Given the description of an element on the screen output the (x, y) to click on. 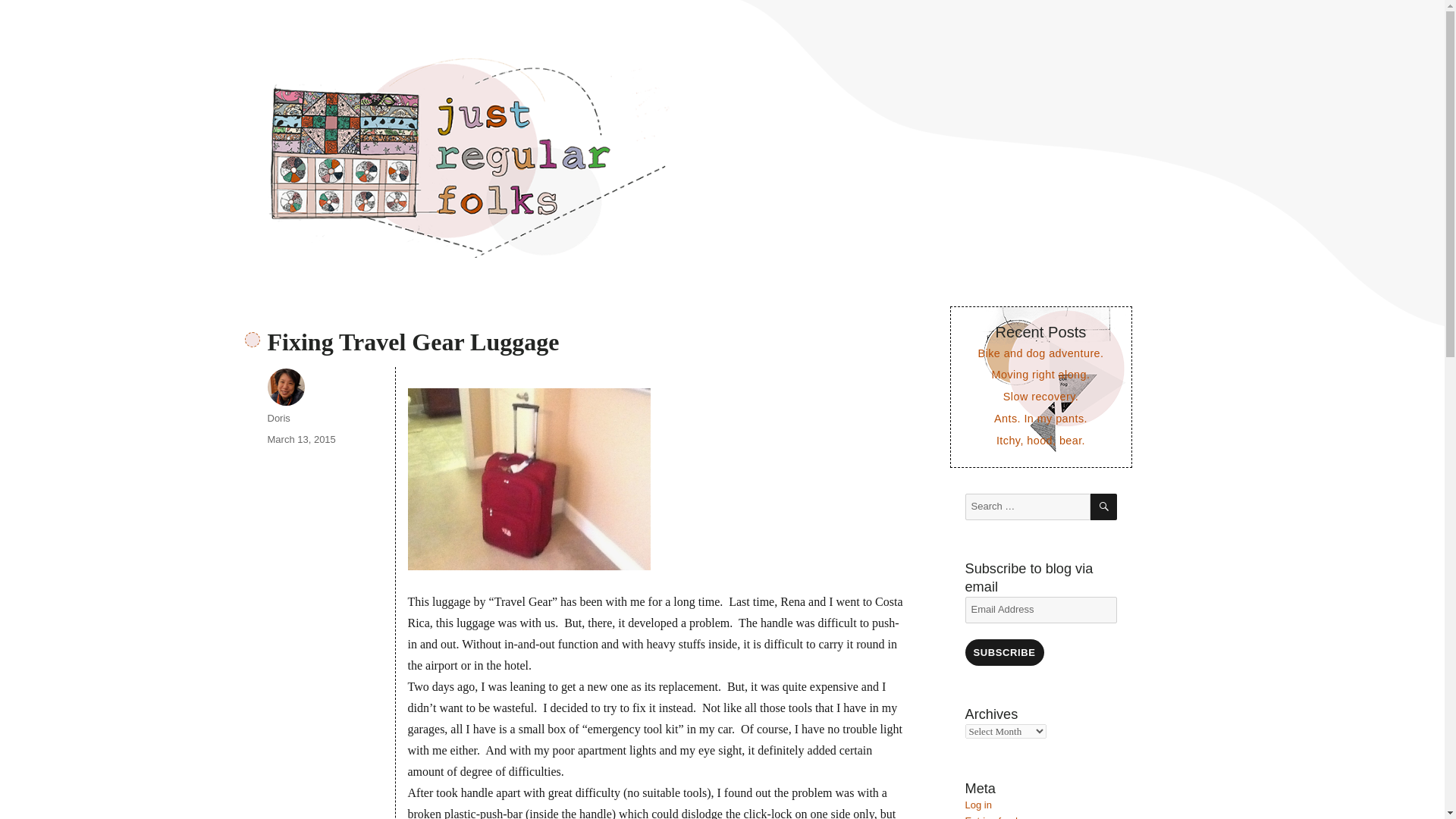
March 13, 2015 (300, 439)
Bike and dog adventure. (1040, 353)
Log in (977, 804)
Ants. In my pants. (1040, 418)
SEARCH (1103, 506)
Doris (277, 418)
SUBSCRIBE (1003, 652)
Itchy, hood, bear. (1039, 440)
Entries feed (989, 816)
Slow recovery. (1040, 396)
